Given the description of an element on the screen output the (x, y) to click on. 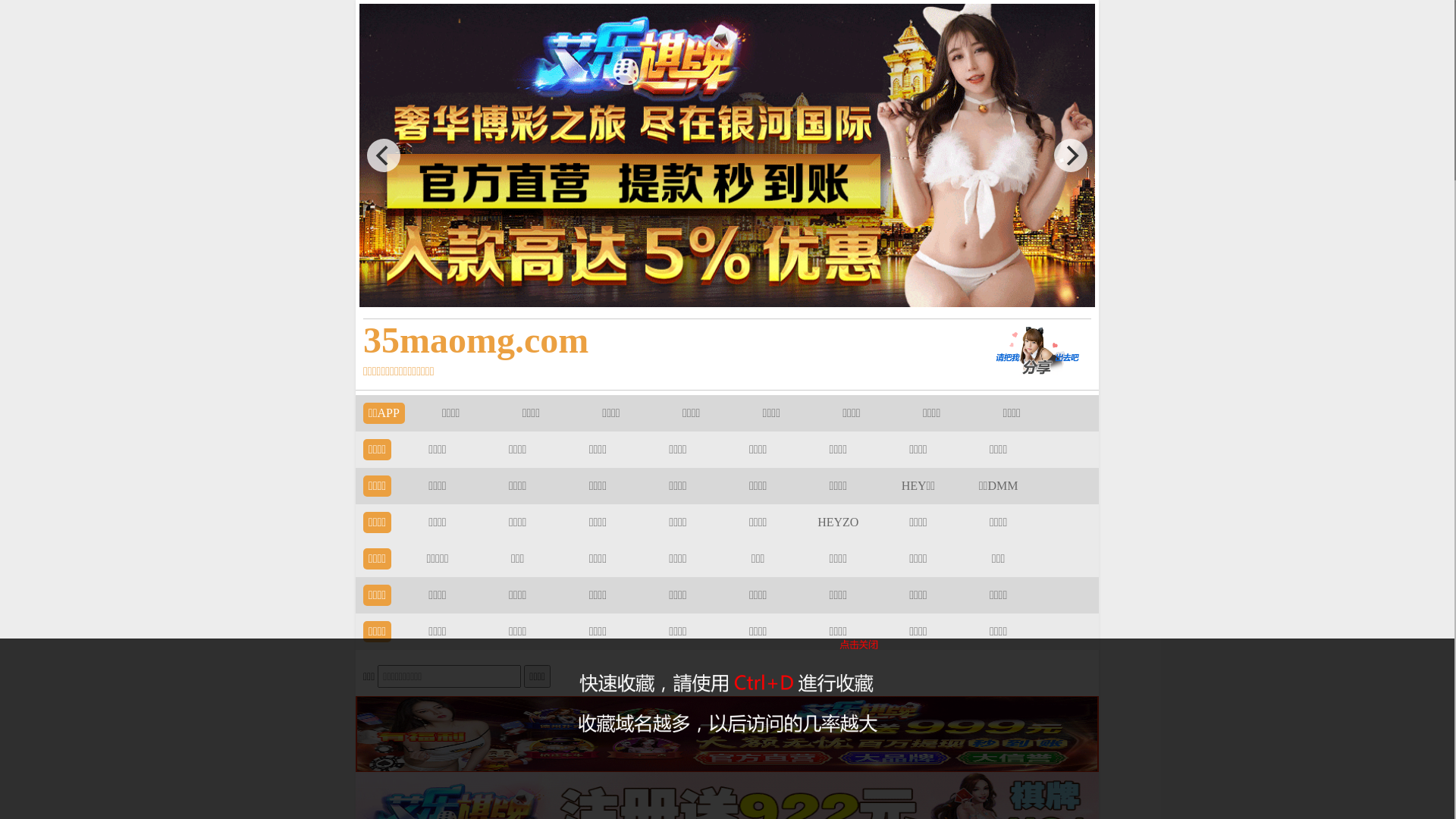
HEYZO Element type: text (837, 521)
35maomg.com Element type: text (654, 339)
